Given the description of an element on the screen output the (x, y) to click on. 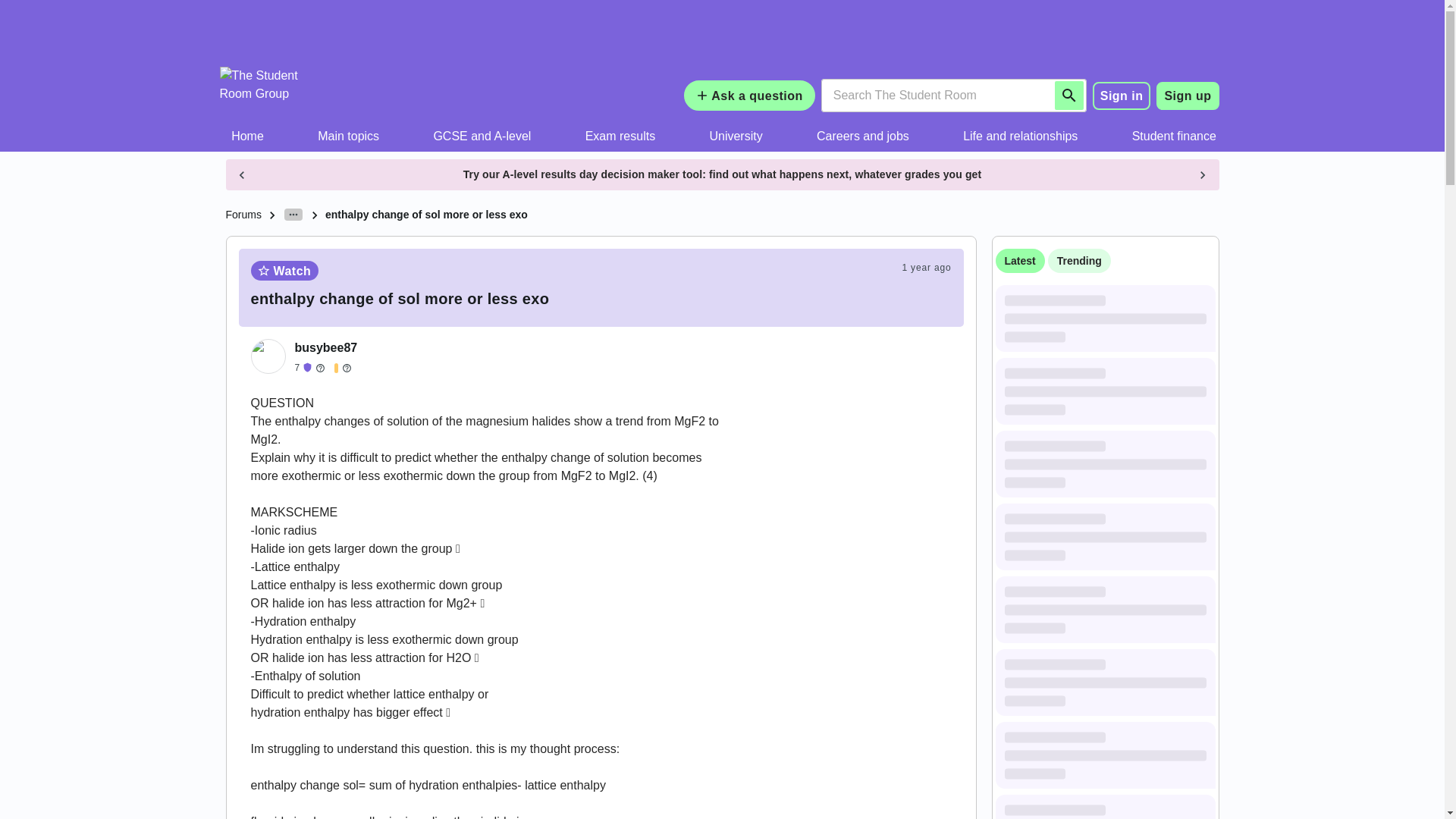
Sign in (1122, 95)
Home (248, 136)
Sign in (1122, 95)
Sign up (1187, 95)
Ask a question (749, 95)
Main topics (348, 136)
GCSE and A-level (481, 136)
